Given the description of an element on the screen output the (x, y) to click on. 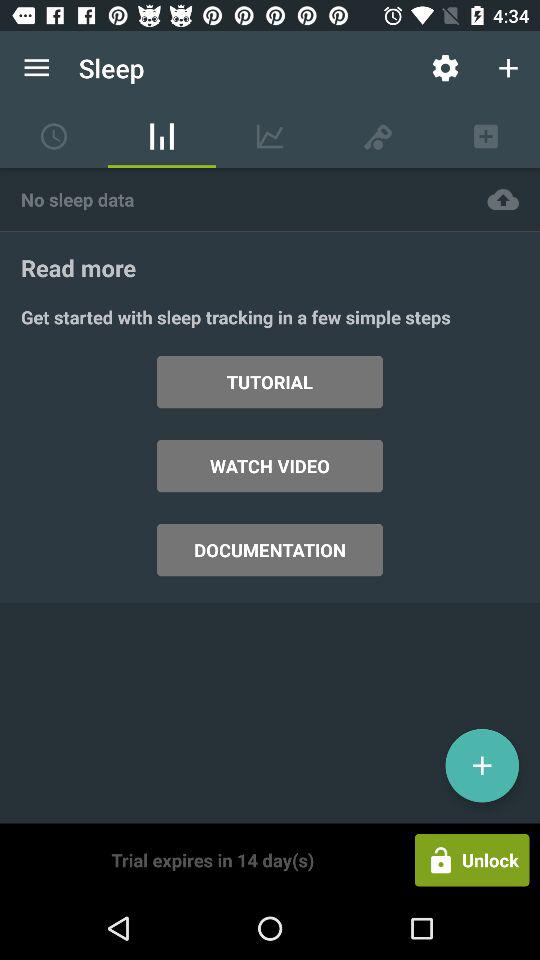
tap icon next to the no sleep data icon (503, 198)
